Given the description of an element on the screen output the (x, y) to click on. 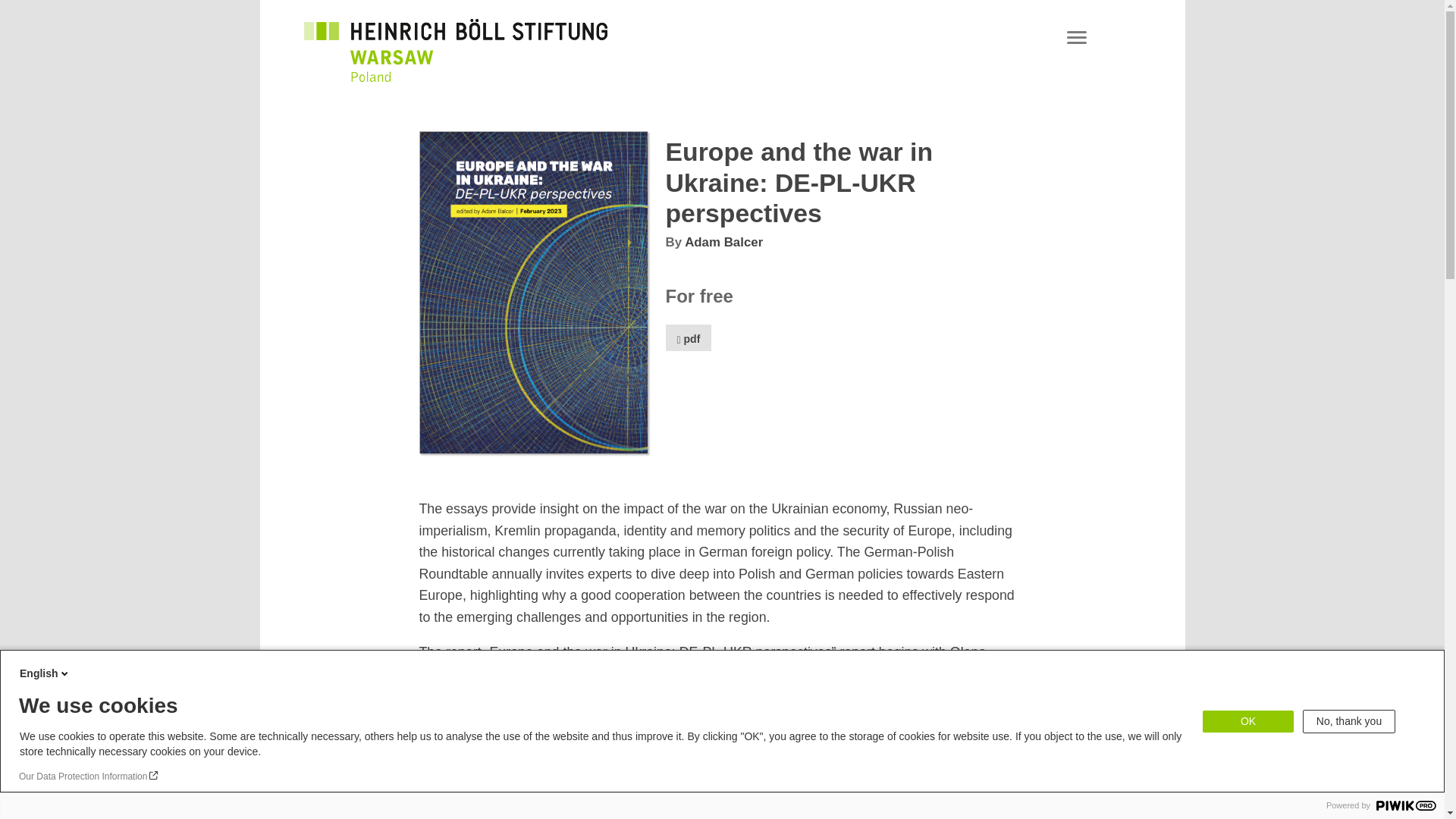
pdf (688, 337)
Adam Balcer (723, 242)
Home (454, 40)
Home (454, 72)
